Given the description of an element on the screen output the (x, y) to click on. 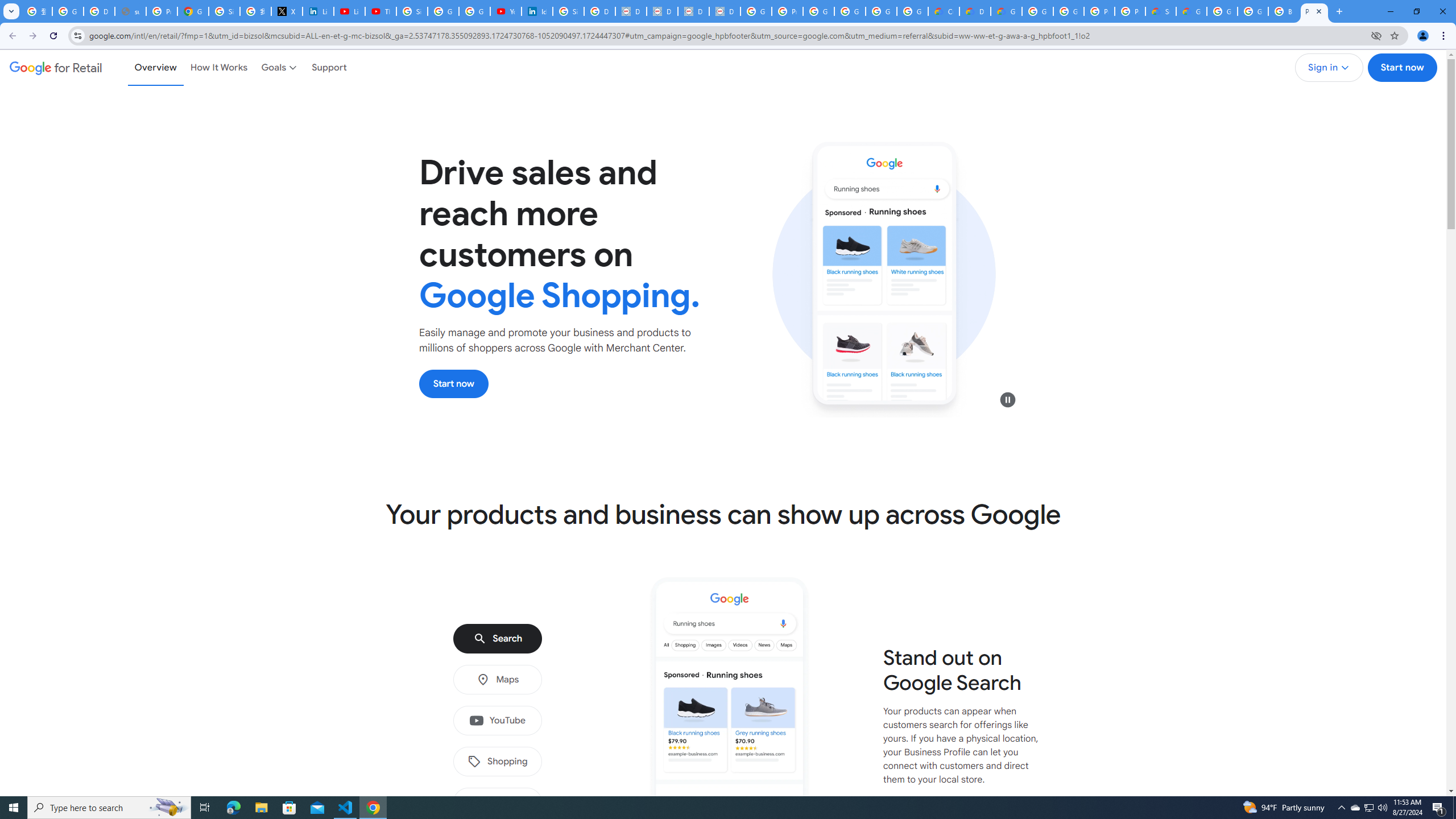
How It Works (218, 67)
Google Cloud Platform (1037, 11)
LinkedIn - YouTube (349, 11)
Goals (279, 67)
Images (496, 802)
Shopping (496, 761)
Data Privacy Framework (724, 11)
LinkedIn Privacy Policy (318, 11)
